Given the description of an element on the screen output the (x, y) to click on. 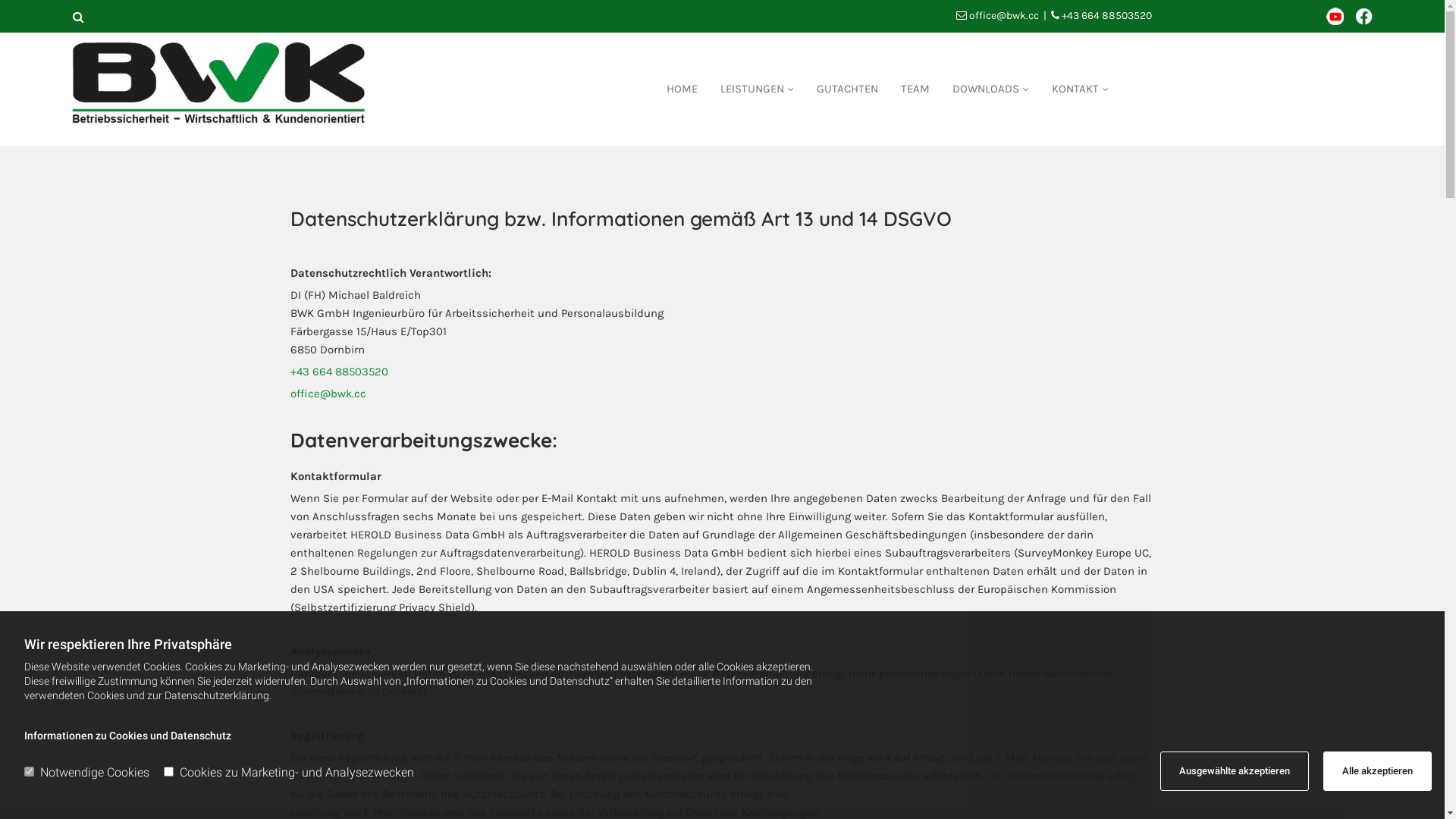
Alle akzeptieren Element type: text (1377, 770)
LEISTUNGEN Element type: text (757, 88)
office@bwk.cc Element type: text (1003, 15)
office@bwk.cc Element type: text (327, 393)
TEAM Element type: text (915, 88)
+43 664 88503520 Element type: text (1106, 15)
HOME Element type: text (682, 88)
DOWNLOADS Element type: text (990, 88)
+43 664 88503520 Element type: text (338, 371)
Logo Element type: hover (225, 89)
KONTAKT Element type: text (1080, 88)
Informationen zu Cookies und Datenschutz Element type: text (127, 735)
GUTACHTEN Element type: text (847, 88)
